Given the description of an element on the screen output the (x, y) to click on. 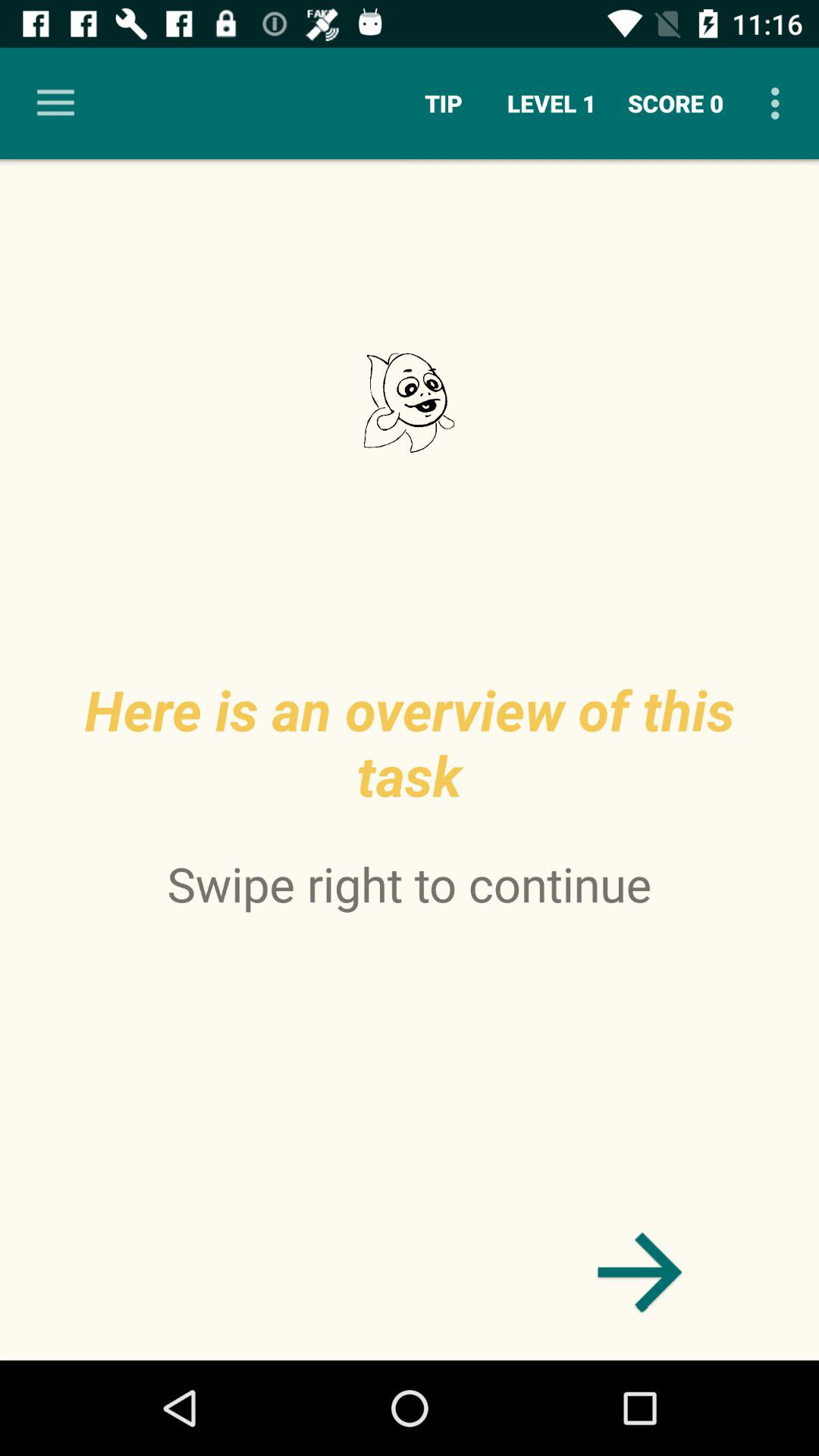
turn off the item next to the level 1 item (443, 103)
